Given the description of an element on the screen output the (x, y) to click on. 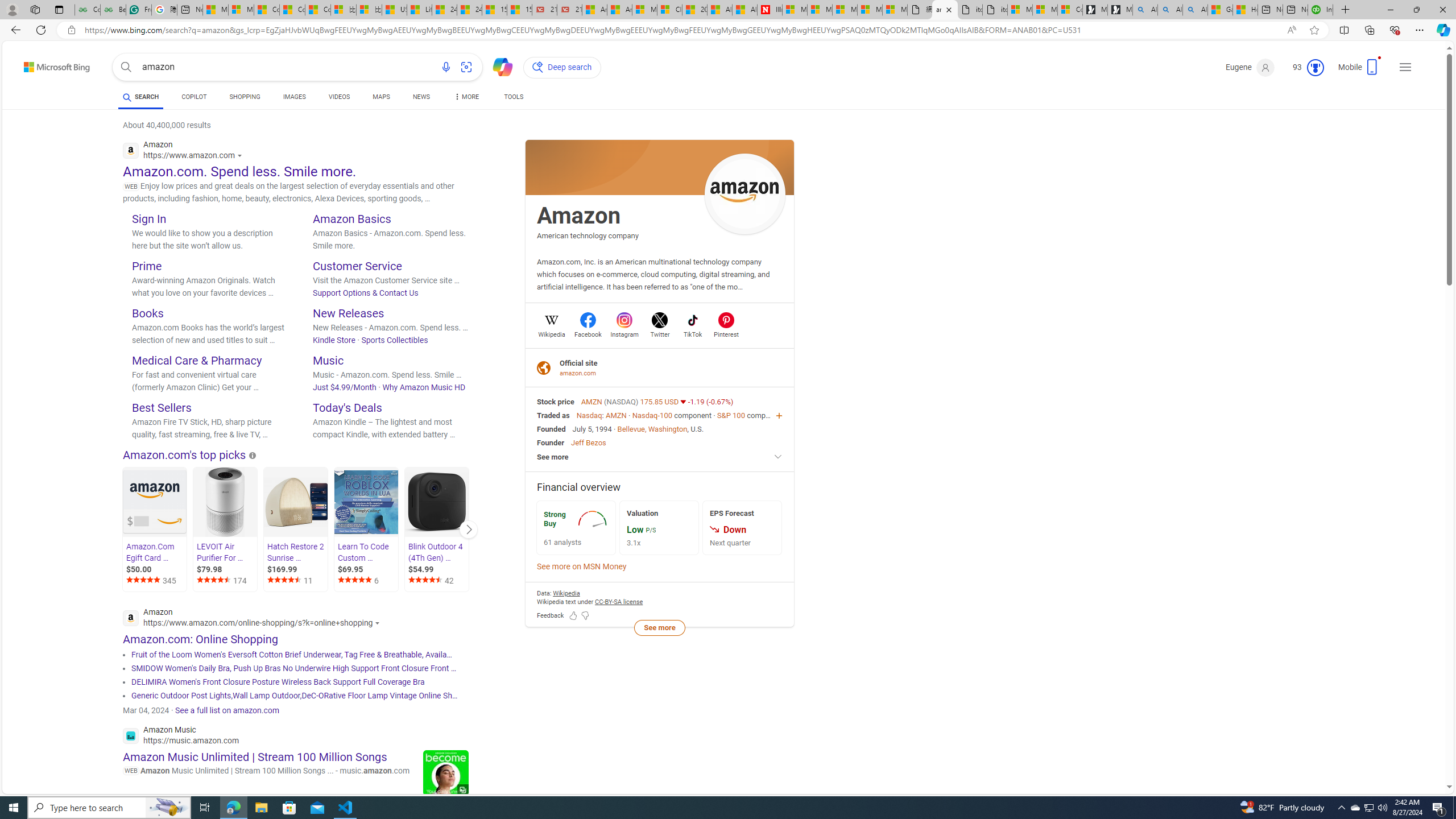
SEARCH (140, 96)
Prime (146, 265)
$79.98 (226, 569)
Star Rating: 4.5 out of 5. (425, 580)
See more on MSN Money (581, 566)
See more (659, 627)
Star Rating: 5 out of 5. (355, 580)
amazon - Search (944, 9)
Feedback Like (573, 614)
Microsoft Rewards 93 (1303, 67)
Class: medal-circled (1315, 67)
Stock price (556, 401)
Free AI Writing Assistance for Students | Grammarly (137, 9)
